Given the description of an element on the screen output the (x, y) to click on. 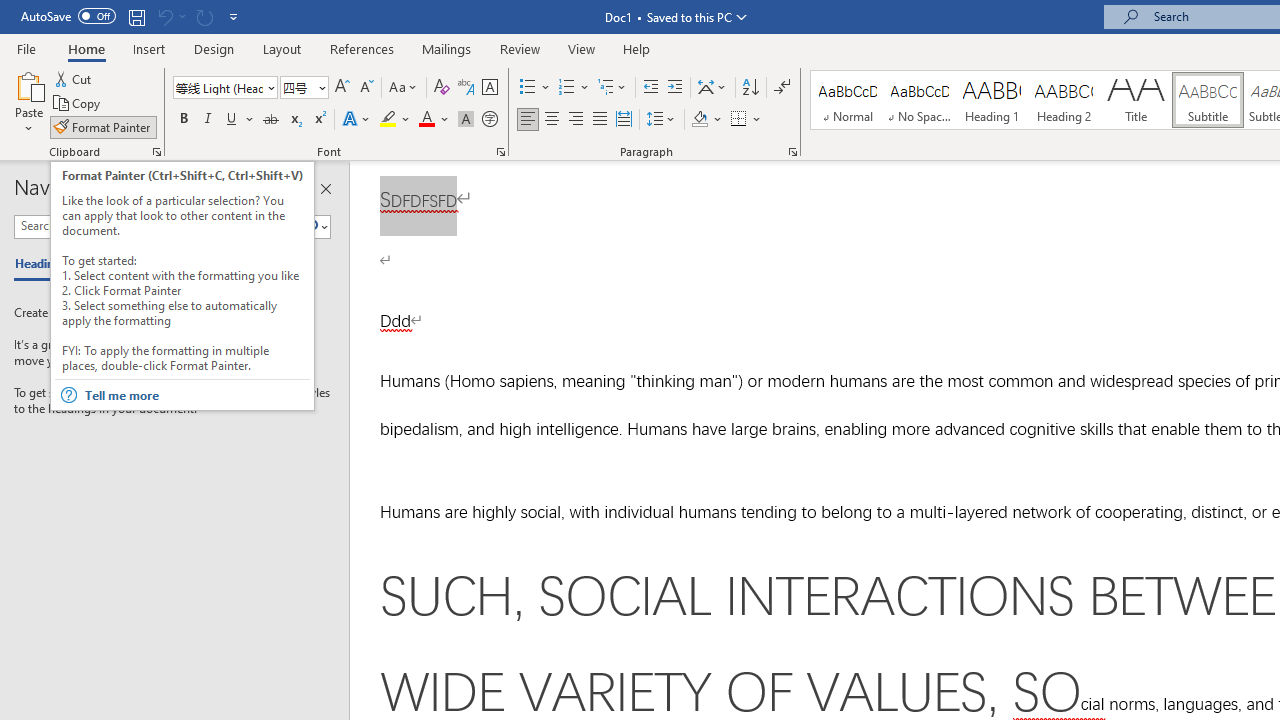
Customize Quick Access Toolbar (234, 15)
Bullets (535, 87)
Cut (73, 78)
Search (315, 227)
Justify (599, 119)
AutoSave (68, 16)
Font (218, 87)
Multilevel List (613, 87)
Save (136, 15)
Text Highlight Color (395, 119)
Underline (239, 119)
Align Left (527, 119)
Home (86, 48)
Close pane (325, 188)
